Given the description of an element on the screen output the (x, y) to click on. 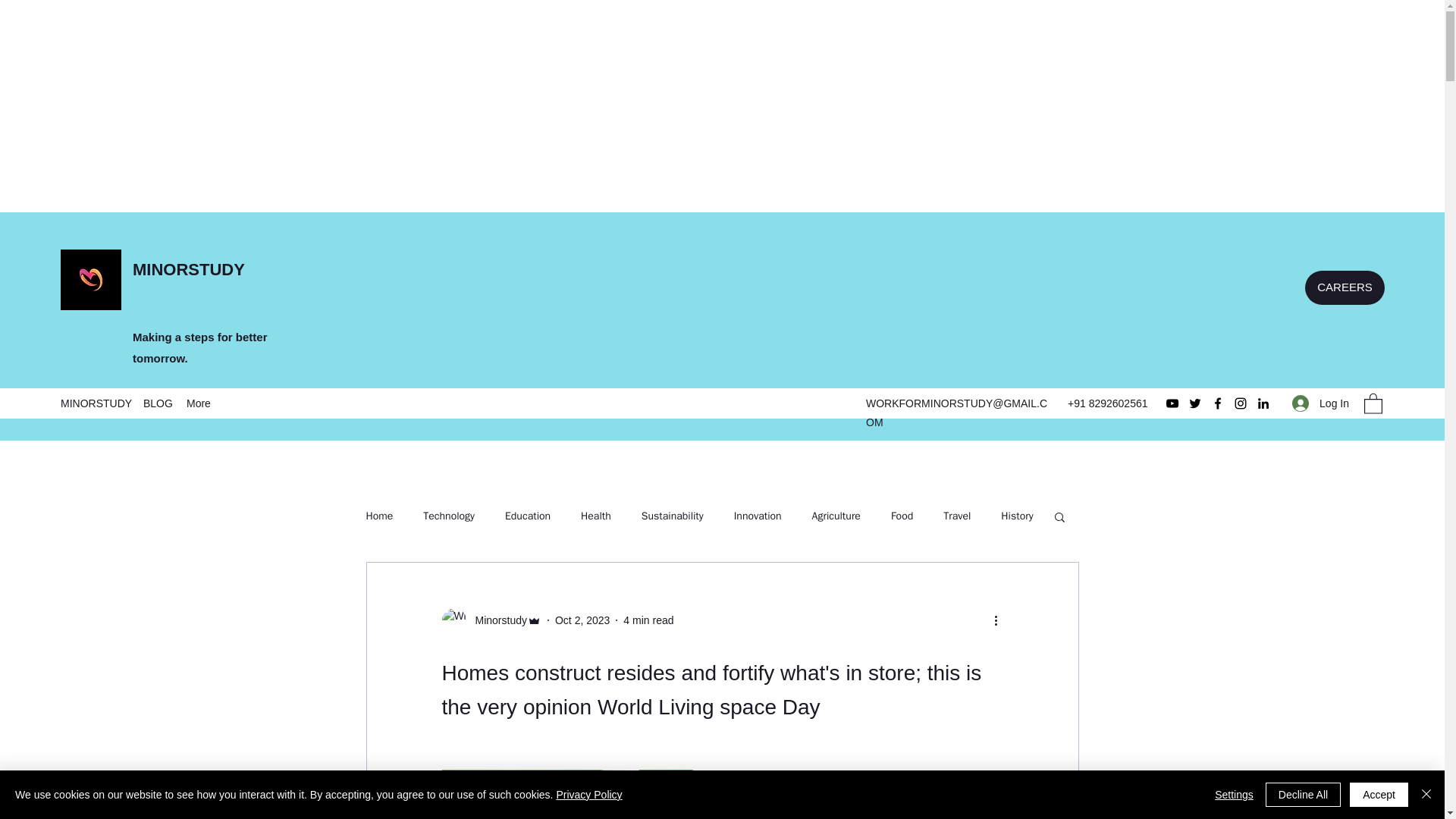
4 min read (647, 620)
Home (379, 516)
Oct 2, 2023 (582, 620)
Technology (448, 516)
MINORSTUDY (93, 403)
Log In (1320, 403)
CAREERS (1344, 287)
BLOG (157, 403)
Minorstudy (495, 620)
Education (527, 516)
